Given the description of an element on the screen output the (x, y) to click on. 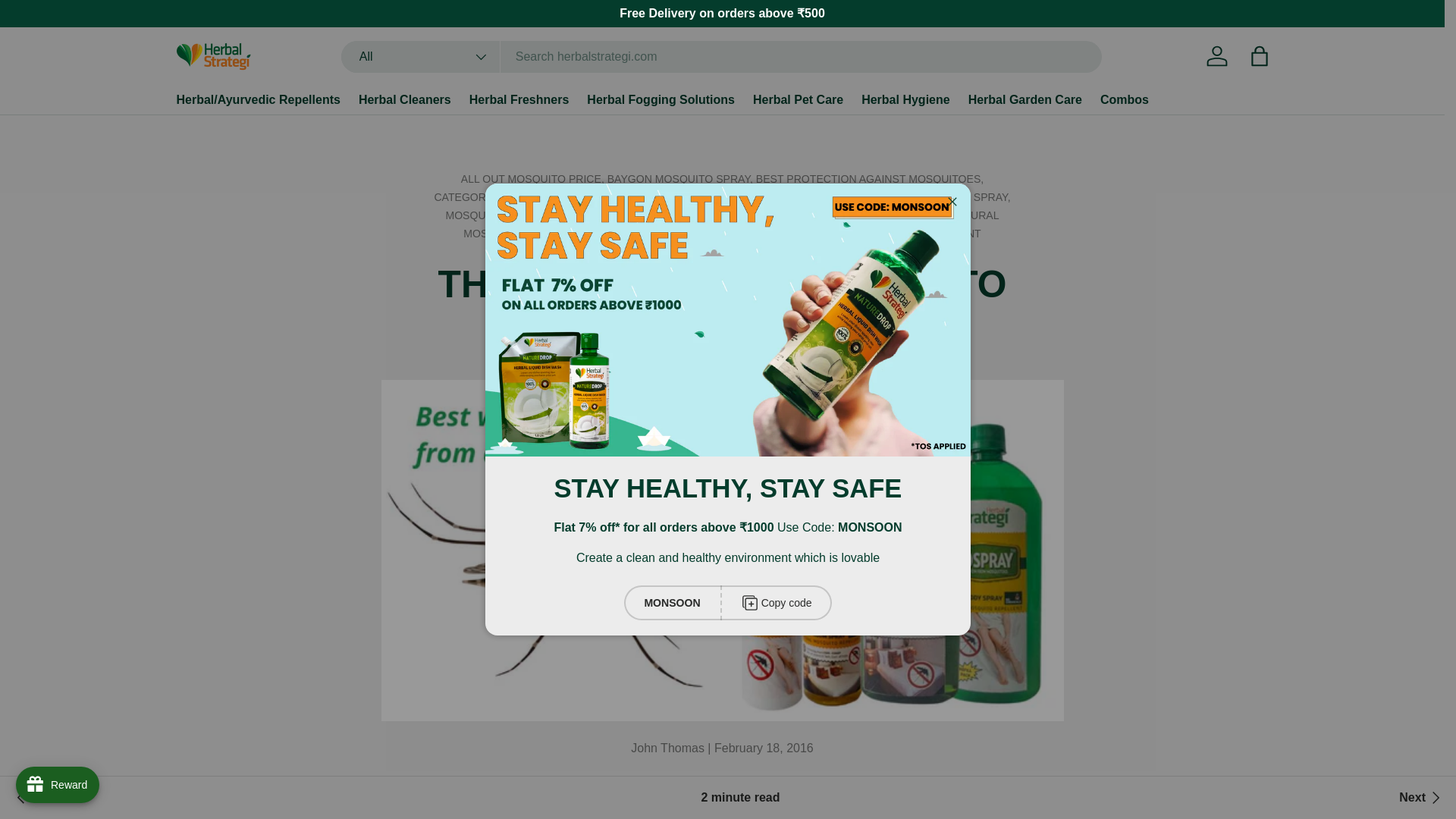
Herbal Cleaners (404, 99)
MOSQUITO KILLER, (496, 215)
Herbal Pet Care (797, 99)
INSECT REPELLENT, (824, 196)
Skip to content (69, 21)
Combos (1124, 99)
Log in (1216, 55)
Herbal Garden Care (1024, 99)
NATURAL MOSQUITO REPELLENT FOR BABY, (714, 233)
Herbal Freshners (518, 99)
NATURAL MOSQUITO BODY SPRAY, (730, 224)
GOOD NIGHT MOSQUITO, (702, 196)
Hand Sanitizers are great. But choose wisely! (1421, 797)
Bag (1258, 55)
BAYGON MOSQUITO SPRAY, (681, 178)
